Given the description of an element on the screen output the (x, y) to click on. 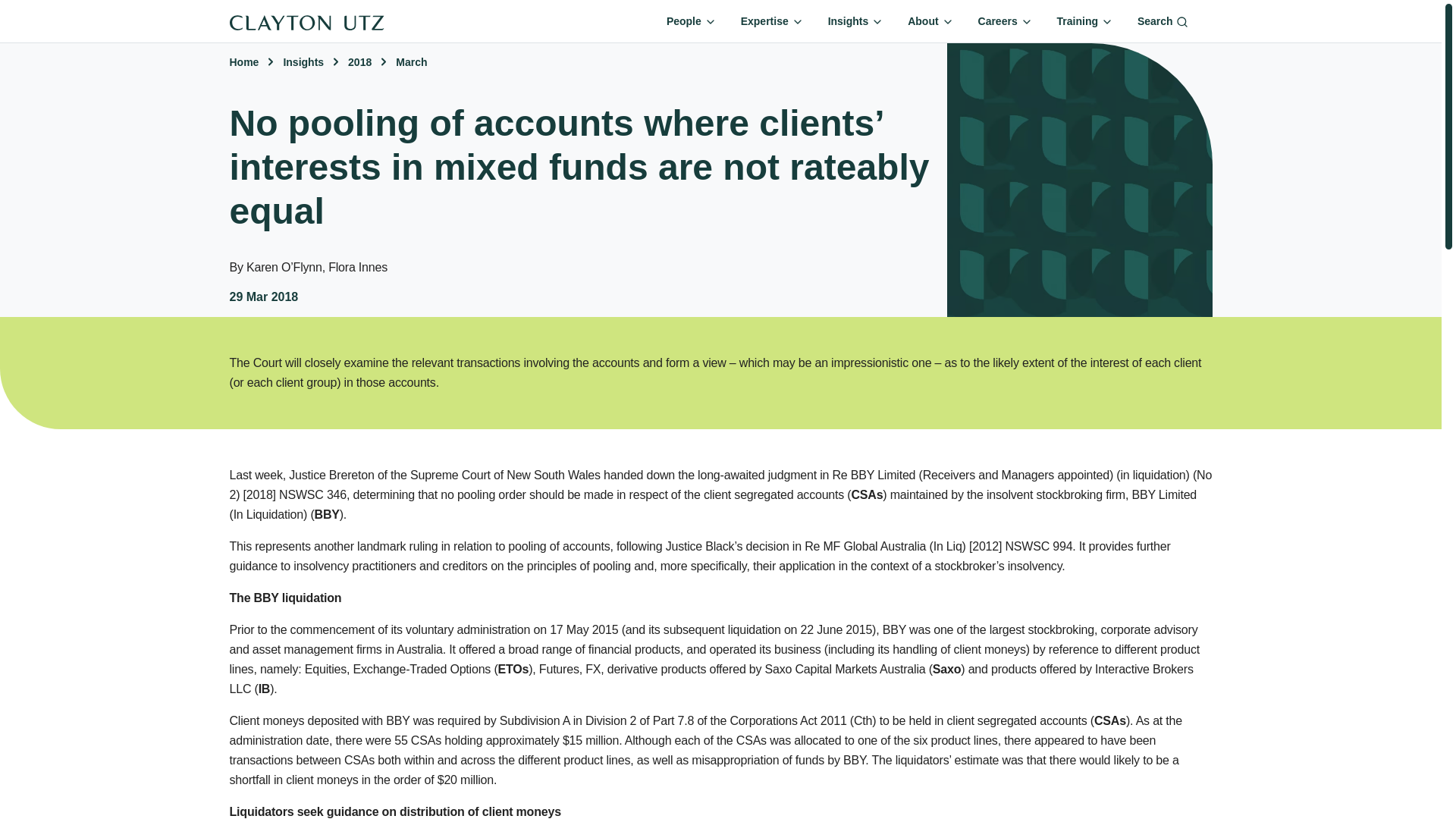
Search (1162, 21)
Insights (855, 21)
Careers (1005, 21)
People (691, 21)
Training (1085, 21)
Expertise (772, 21)
About (930, 21)
